Given the description of an element on the screen output the (x, y) to click on. 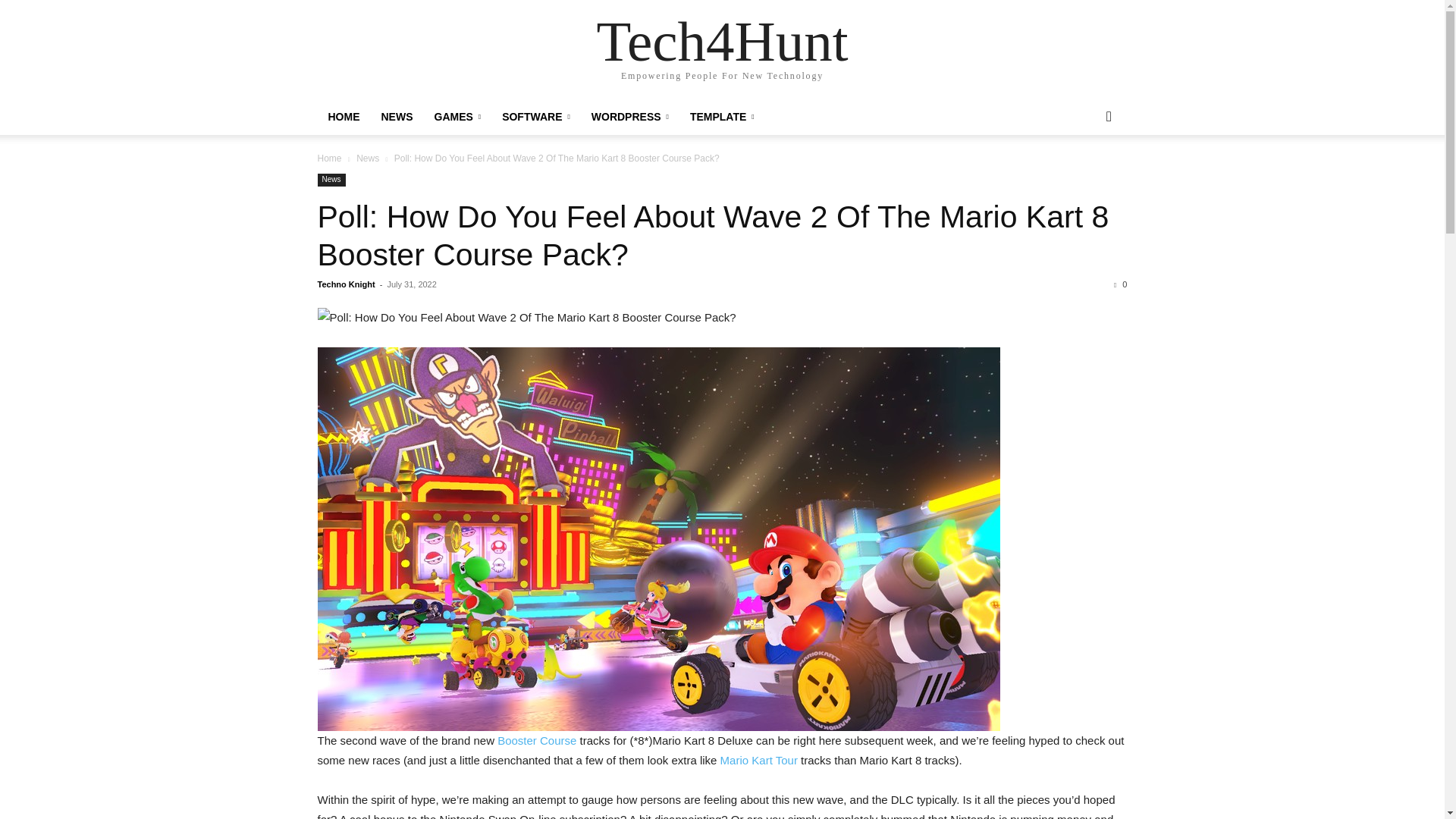
TEMPLATE (722, 116)
GAMES (457, 116)
NEWS (396, 116)
Tech4Hunt (721, 41)
View all posts in News (367, 158)
HOME (343, 116)
WORDPRESS (629, 116)
SOFTWARE (536, 116)
